Given the description of an element on the screen output the (x, y) to click on. 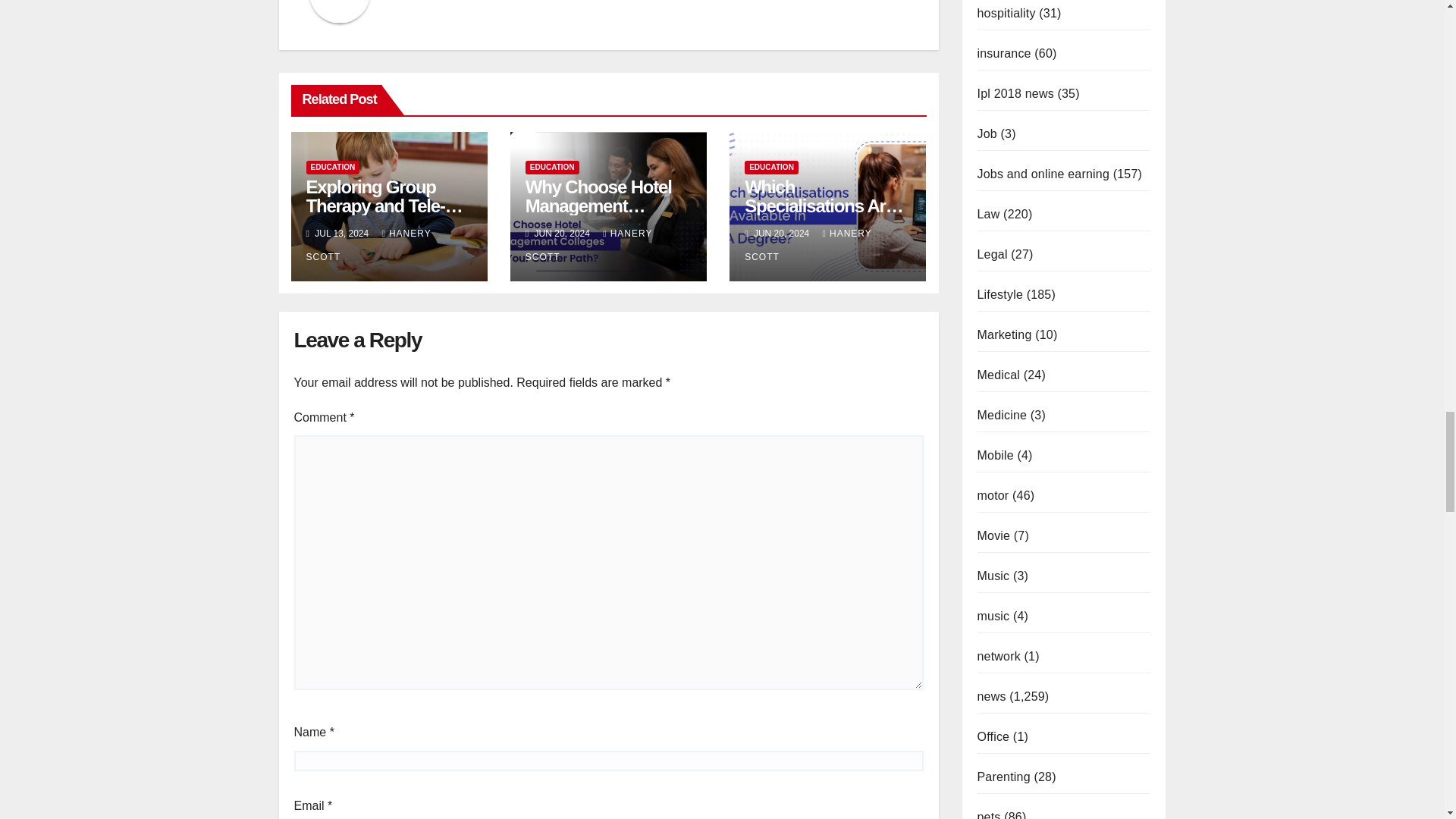
EDUCATION (332, 167)
Why Choose Hotel Management Colleges for Your Career Path? (598, 214)
HANERY SCOTT (588, 245)
EDUCATION (552, 167)
HANERY SCOTT (367, 245)
